Given the description of an element on the screen output the (x, y) to click on. 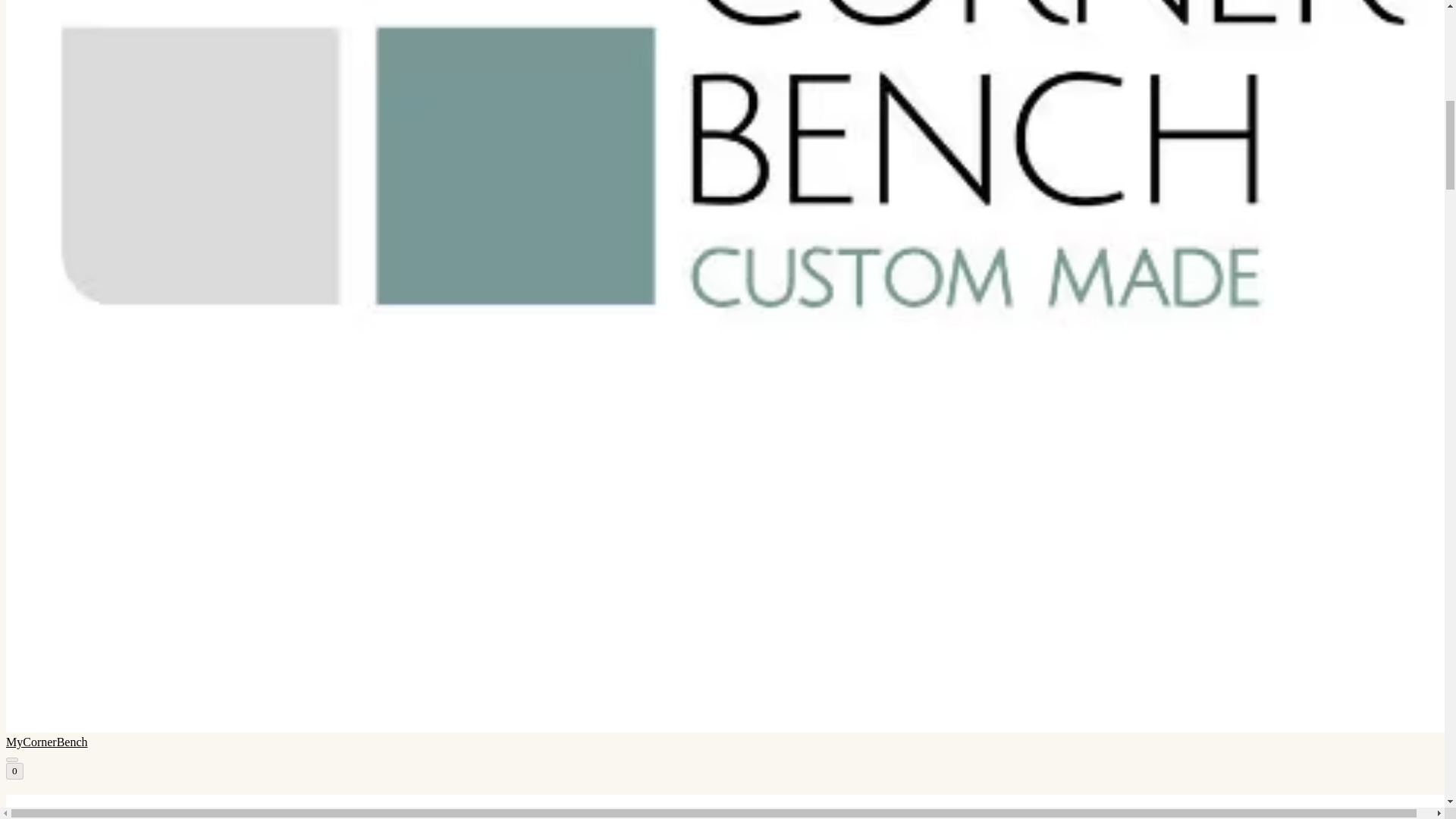
MyCornerBench (721, 806)
0 (14, 770)
